Given the description of an element on the screen output the (x, y) to click on. 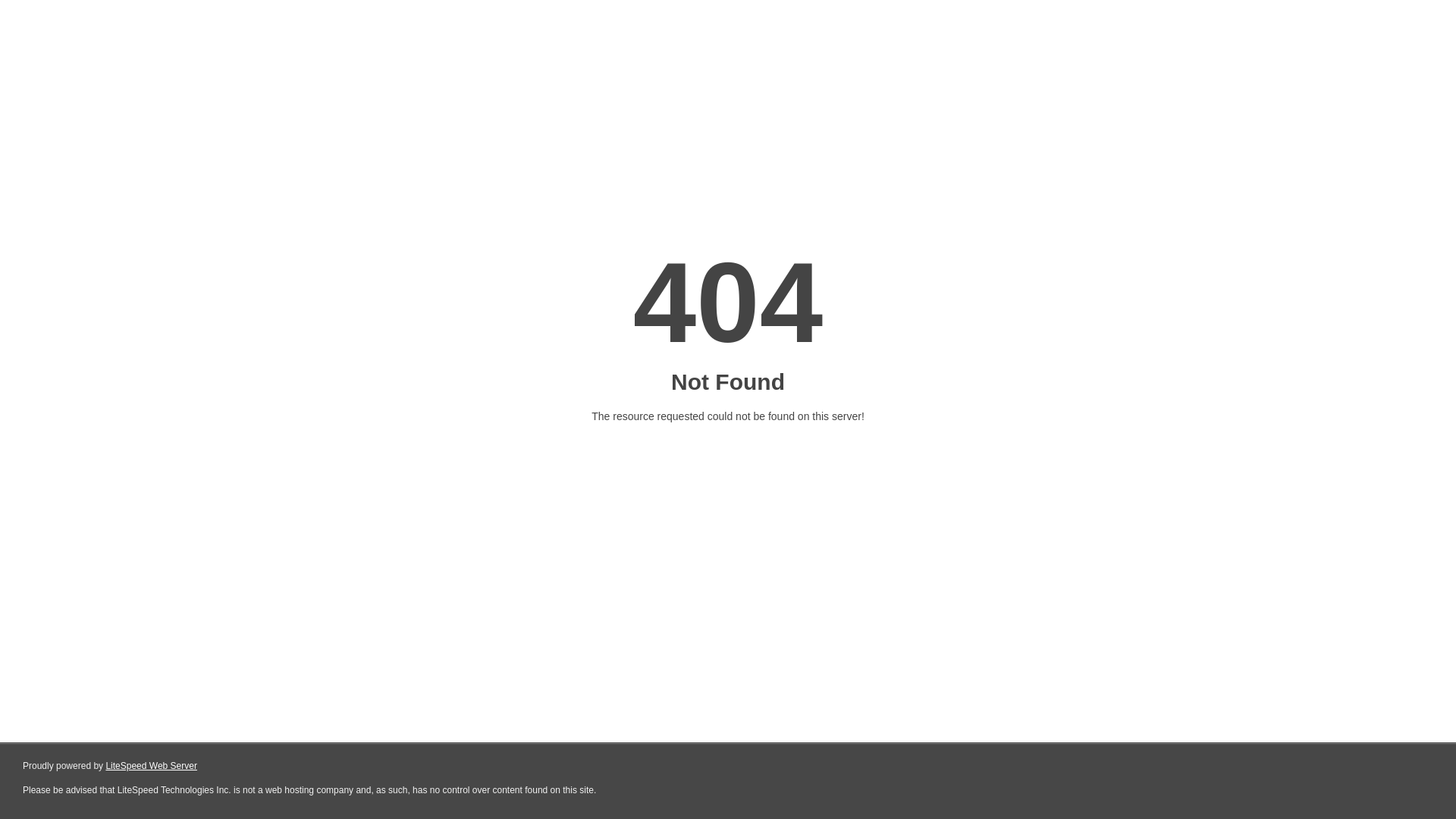
LiteSpeed Web Server Element type: text (151, 765)
